Given the description of an element on the screen output the (x, y) to click on. 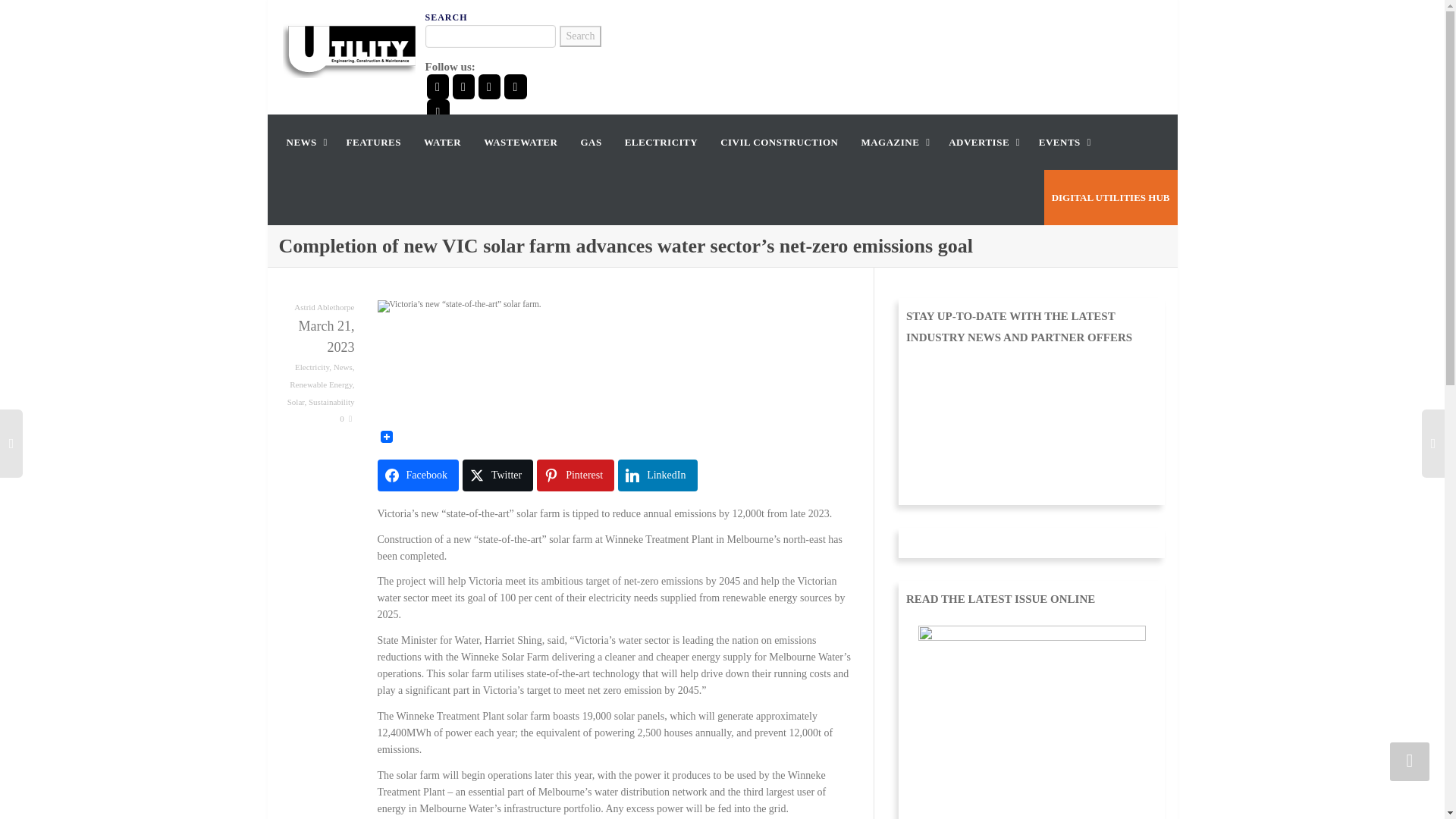
MAGAZINE (893, 141)
Sustainability (331, 401)
Solar (295, 401)
DIGITAL UTILITIES HUB (1110, 197)
News (342, 366)
Search (579, 35)
ELECTRICITY (661, 141)
Wastewater (520, 141)
RSS Feed (437, 111)
Magazine (893, 141)
